Given the description of an element on the screen output the (x, y) to click on. 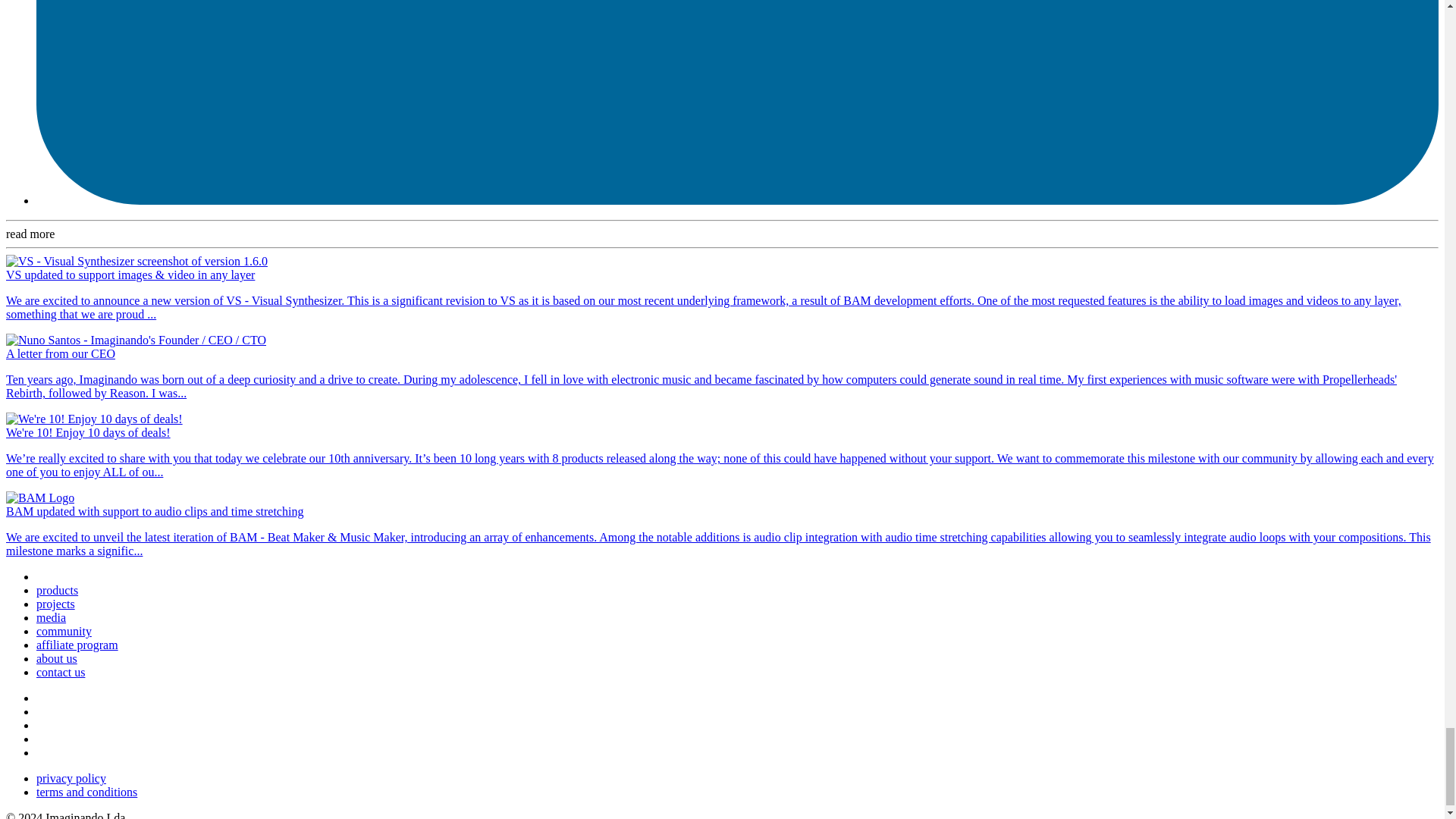
media (50, 617)
projects (55, 603)
terms and conditions (86, 791)
about us (56, 658)
privacy policy (71, 778)
products (57, 590)
contact us (60, 671)
community (63, 631)
affiliate program (76, 644)
